Given the description of an element on the screen output the (x, y) to click on. 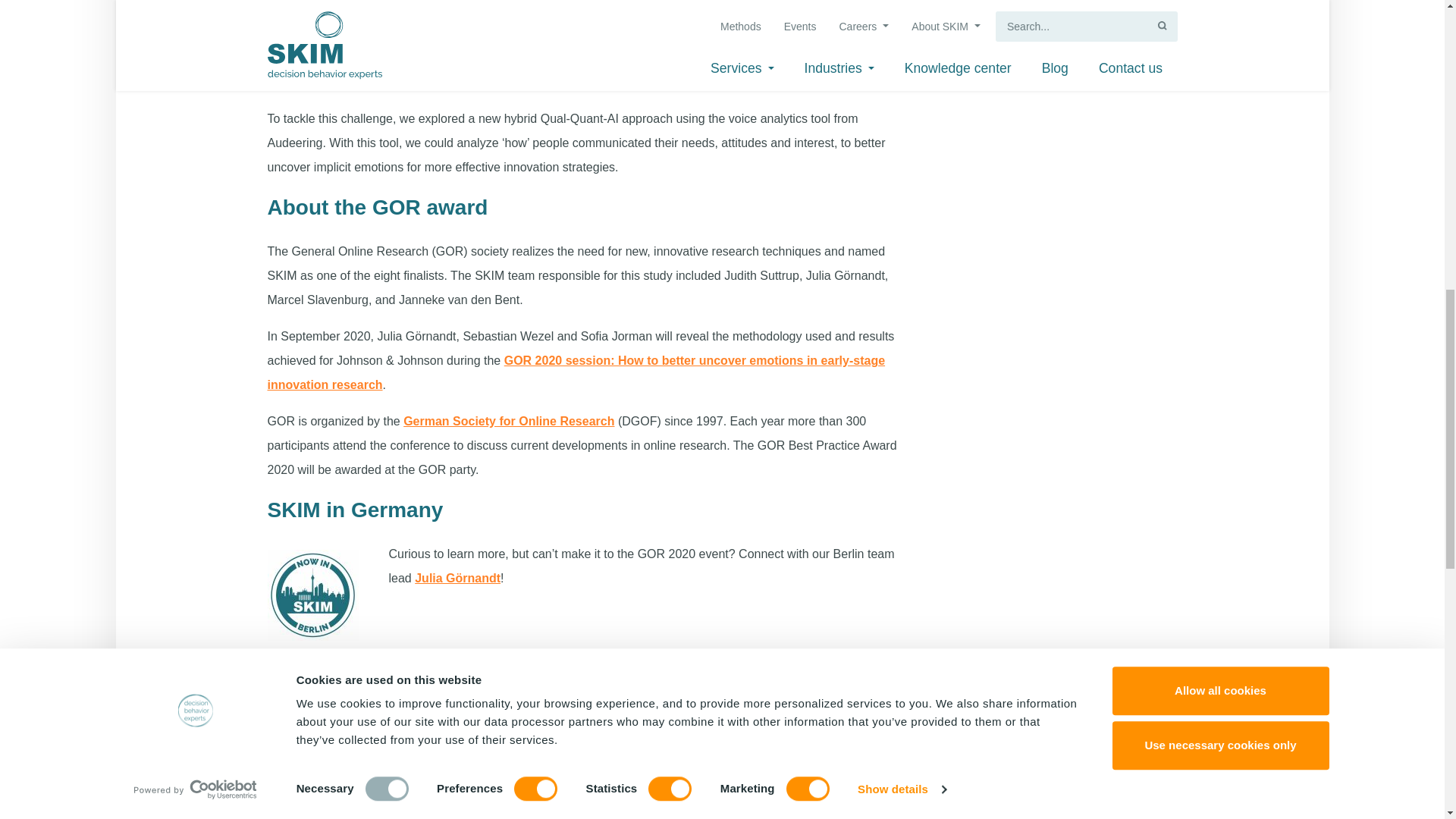
E-mail this article (501, 678)
Share this on Facebook (463, 678)
Share this on LinkedIn (387, 678)
Share this on Twitter (425, 678)
